Given the description of an element on the screen output the (x, y) to click on. 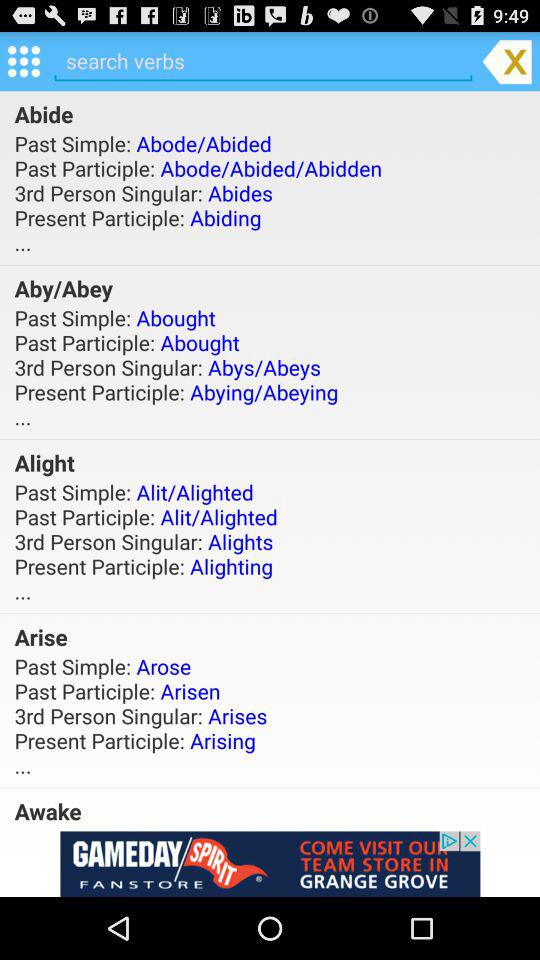
enter text (263, 60)
